Given the description of an element on the screen output the (x, y) to click on. 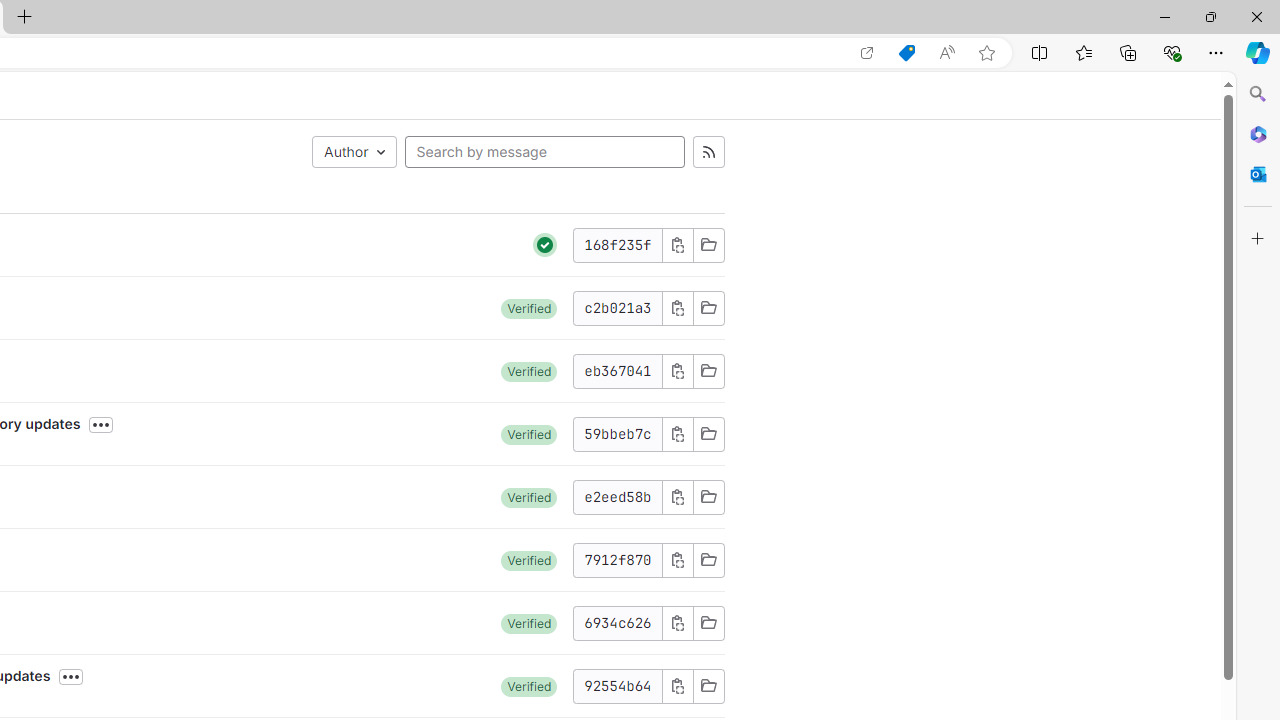
Author (354, 151)
Verified (529, 685)
Search by message (544, 151)
Class: s16 (708, 686)
Class: s16 gl-icon gl-button-icon  (677, 686)
Pipeline: passed (545, 245)
Browse Files (708, 686)
